Given the description of an element on the screen output the (x, y) to click on. 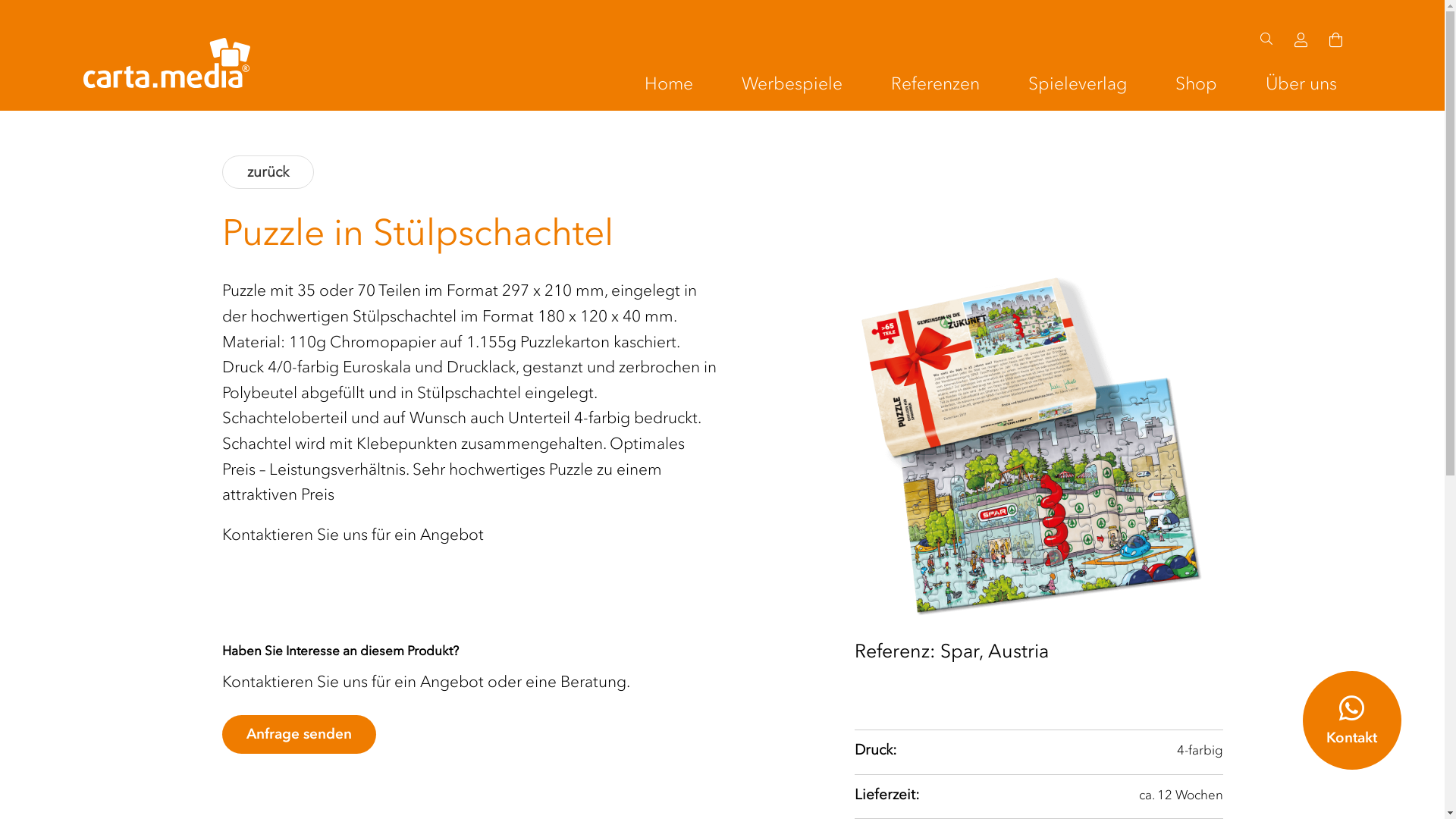
Shop Element type: text (1196, 84)
Home Element type: text (668, 84)
Werbespiele Element type: text (791, 84)
Spieleverlag Element type: text (1077, 84)
Referenzen Element type: text (935, 84)
Anfrage senden Element type: text (298, 734)
Kontakt Element type: text (1351, 720)
